Given the description of an element on the screen output the (x, y) to click on. 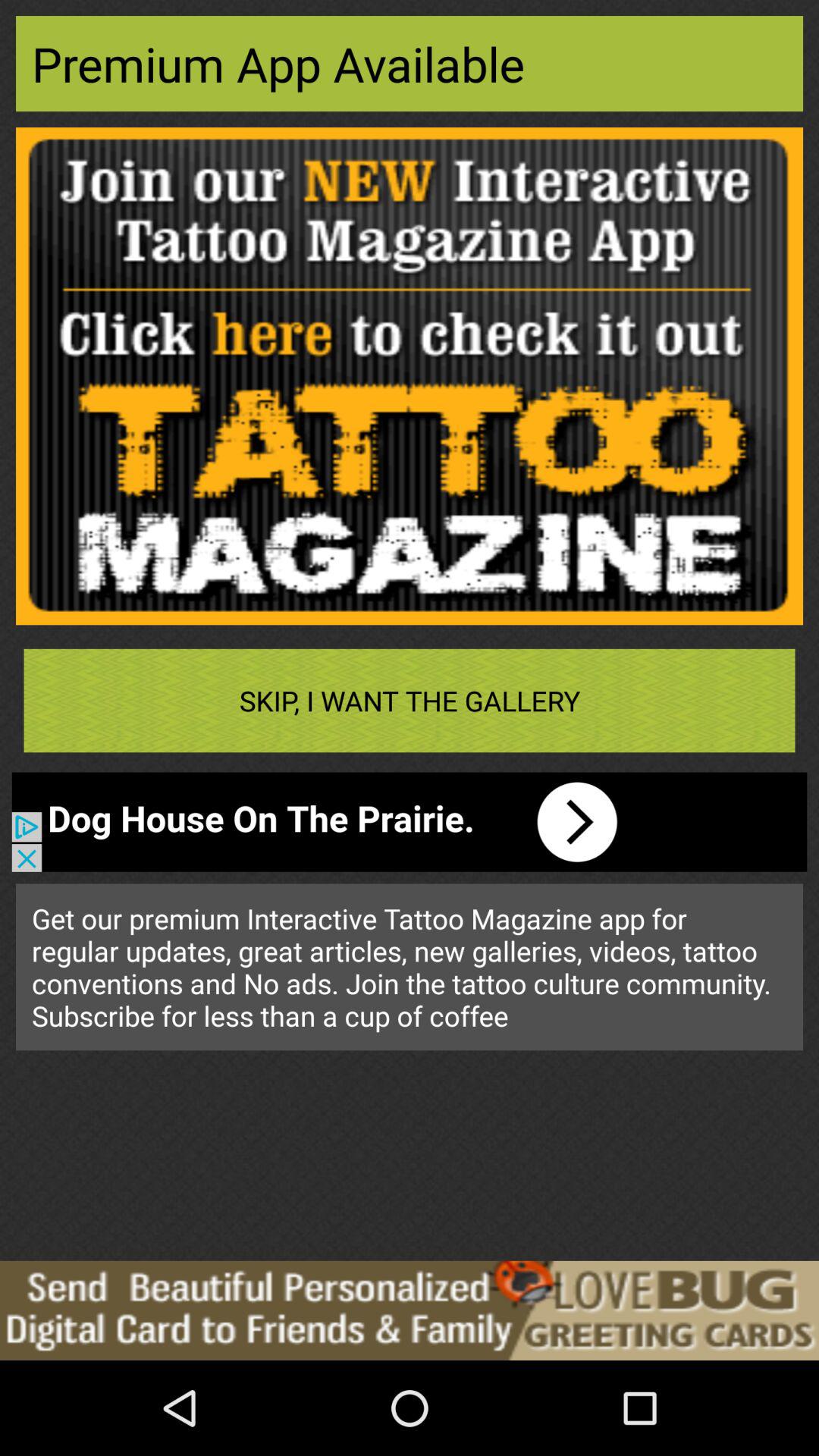
advertisement page (409, 376)
